Given the description of an element on the screen output the (x, y) to click on. 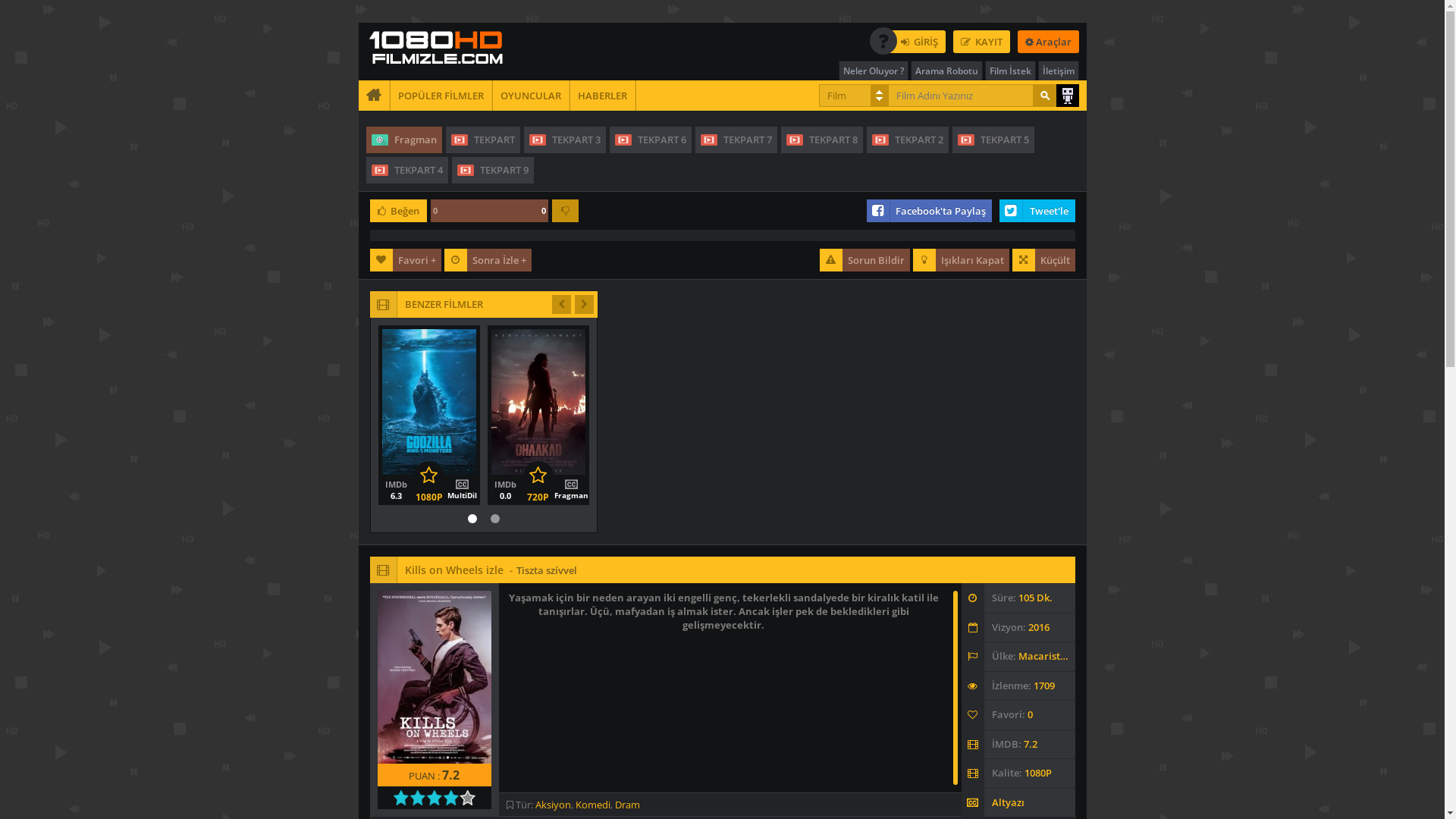
Macaristan Element type: text (1044, 655)
  KAYIT Element type: text (980, 41)
Arama Robotu Element type: text (946, 70)
Sorun Bildir Element type: text (864, 259)
TEKPART 5 Element type: text (993, 139)
10 Element type: text (471, 797)
Anasayfa Element type: hover (373, 95)
2 Element type: text (404, 797)
TEKPART 7 Element type: text (735, 139)
TEKPART 3 Element type: text (564, 139)
OYUNCULAR Element type: text (530, 95)
8 Element type: text (454, 797)
2016 Element type: text (1038, 626)
Neler Oluyor ? Element type: text (873, 70)
Dhaakad izle Element type: hover (554, 476)
5 Element type: text (430, 797)
HABERLER Element type: text (602, 95)
TEKPART 2 Element type: text (906, 139)
9 Element type: text (463, 797)
4 Element type: text (421, 797)
TEKPART 4 Element type: text (406, 169)
Favori + Element type: text (405, 259)
Tweet'le Element type: text (1037, 210)
TEKPART 6 Element type: text (650, 139)
Komedi Element type: text (591, 804)
TEKPART 9 Element type: text (492, 169)
TEKPART 8 Element type: text (821, 139)
Aksiyon Element type: text (553, 804)
1 Element type: text (396, 797)
Fragman Element type: text (403, 139)
3 Element type: text (413, 797)
Arama Robotu Element type: text (1066, 95)
7 Element type: text (446, 797)
Dram Element type: text (626, 804)
TEKPART Element type: text (482, 139)
Film Element type: text (853, 95)
6 Element type: text (437, 797)
